Given the description of an element on the screen output the (x, y) to click on. 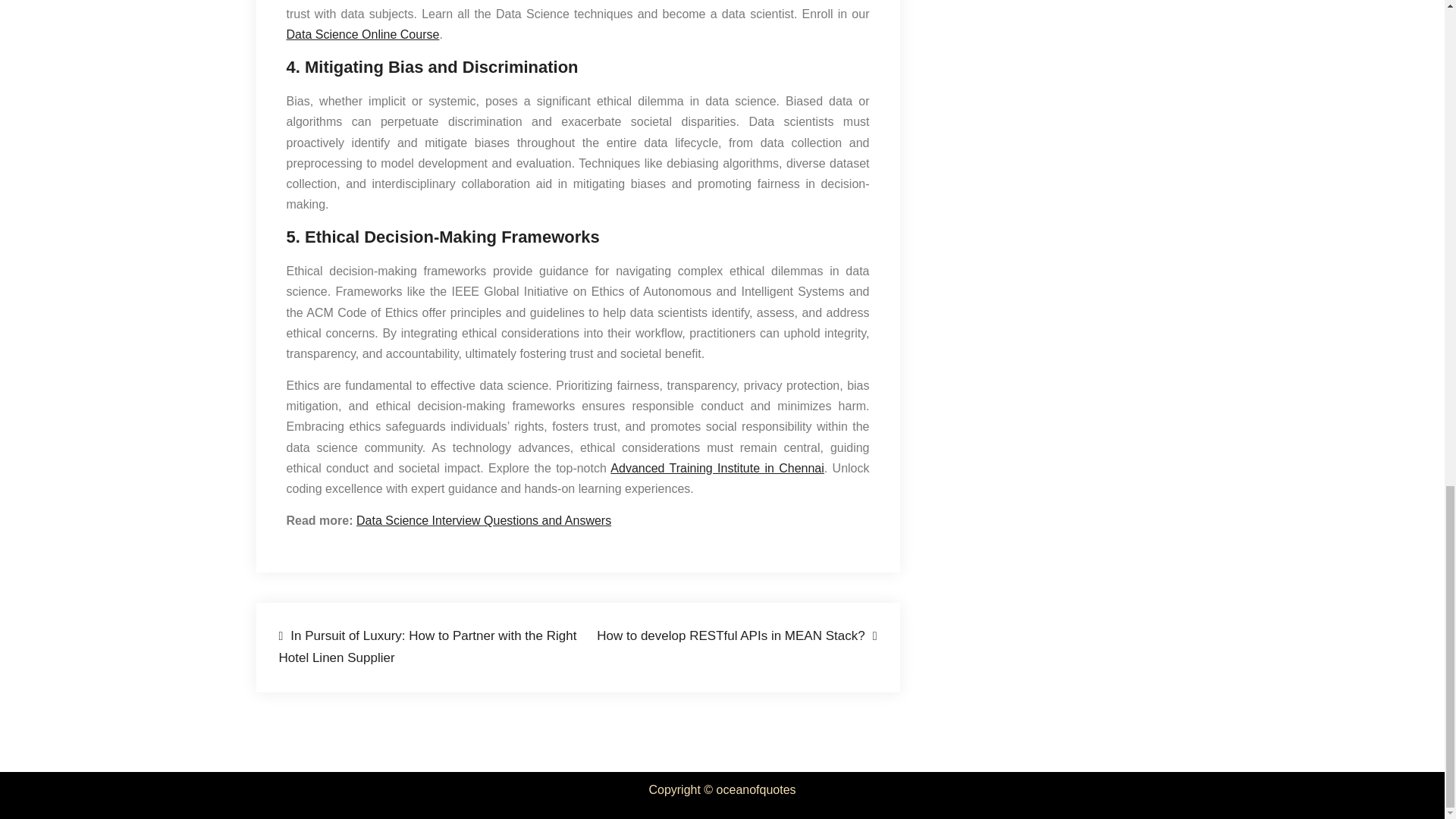
Data Science Online Course (362, 33)
How to develop RESTful APIs in MEAN Stack? (736, 636)
Advanced Training Institute in Chennai (717, 468)
Data Science Interview Questions and Answers (483, 520)
